Given the description of an element on the screen output the (x, y) to click on. 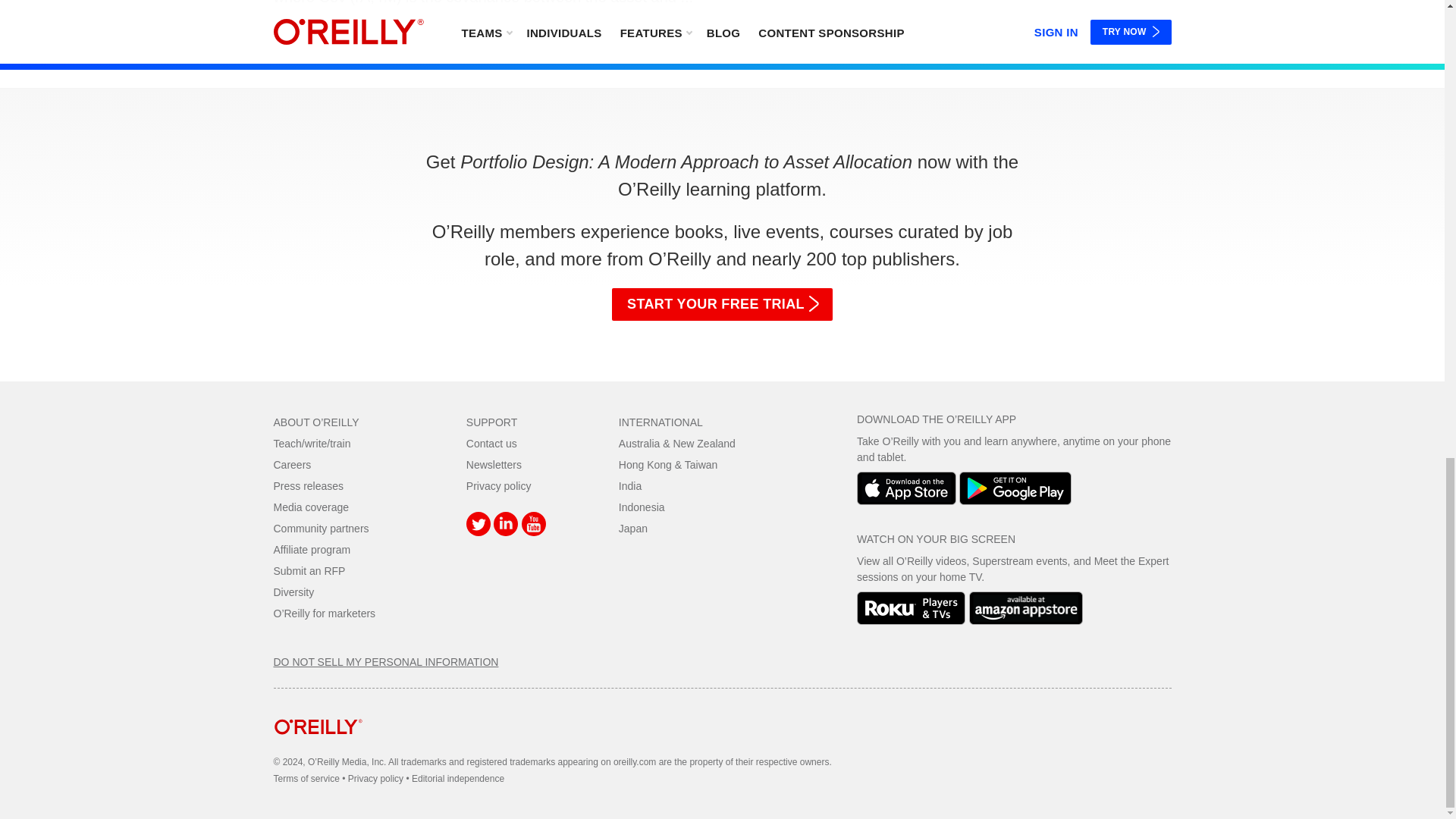
home page (317, 745)
Media coverage (311, 507)
SUPPORT (490, 422)
Submit an RFP (309, 571)
Privacy policy (498, 485)
START YOUR FREE TRIAL (721, 304)
Affiliate program (311, 549)
Diversity (293, 592)
Newsletters (493, 464)
Careers (292, 464)
